Given the description of an element on the screen output the (x, y) to click on. 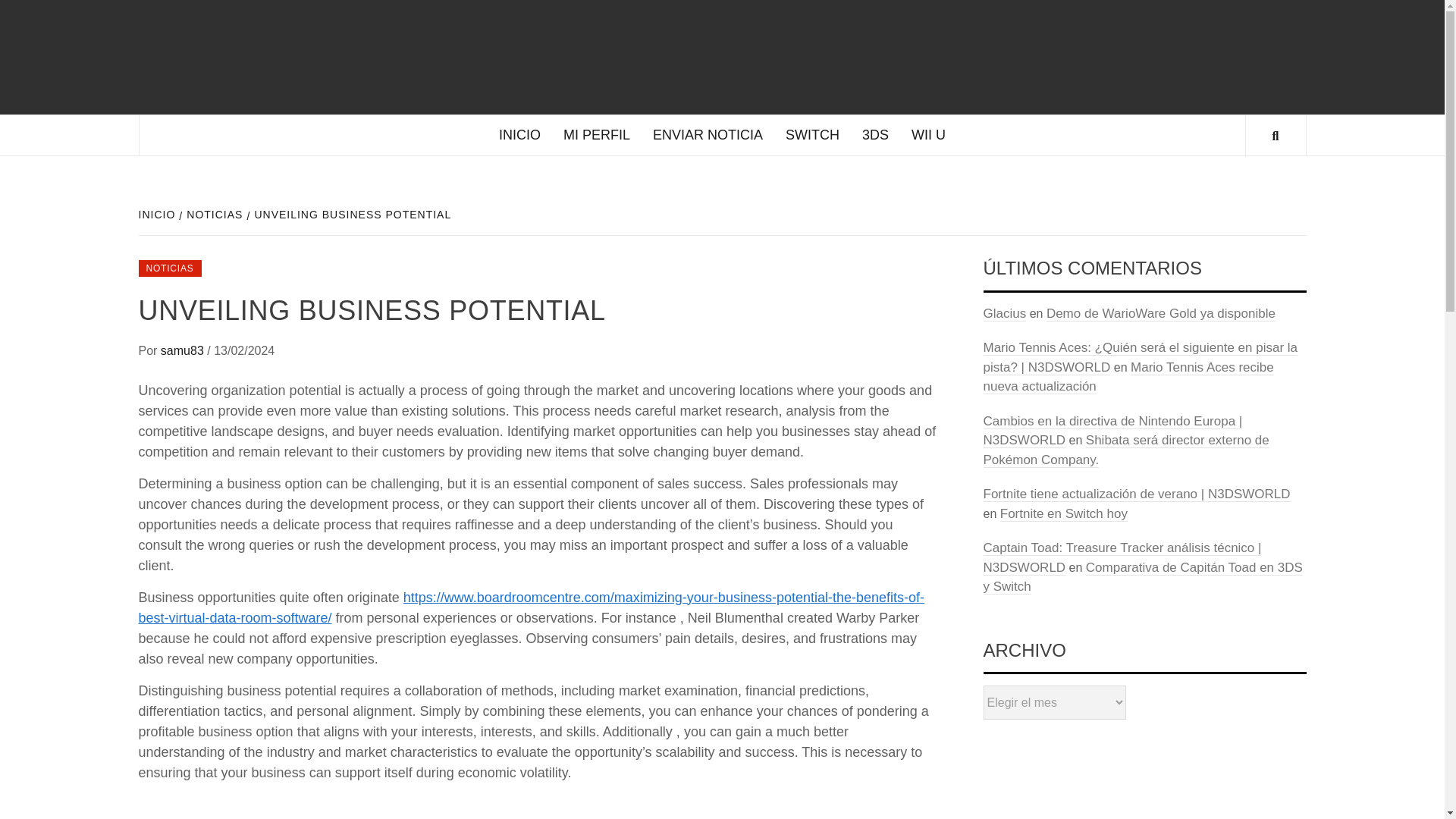
Fortnite en Switch hoy (1063, 513)
Glacius (1004, 313)
ENVIAR NOTICIA (708, 135)
SWITCH (812, 135)
3DS (874, 135)
INICIO (519, 135)
UNVEILING BUSINESS POTENTIAL (350, 214)
N3DSWORLD (842, 80)
WII U (927, 135)
samu83 (183, 350)
